Given the description of an element on the screen output the (x, y) to click on. 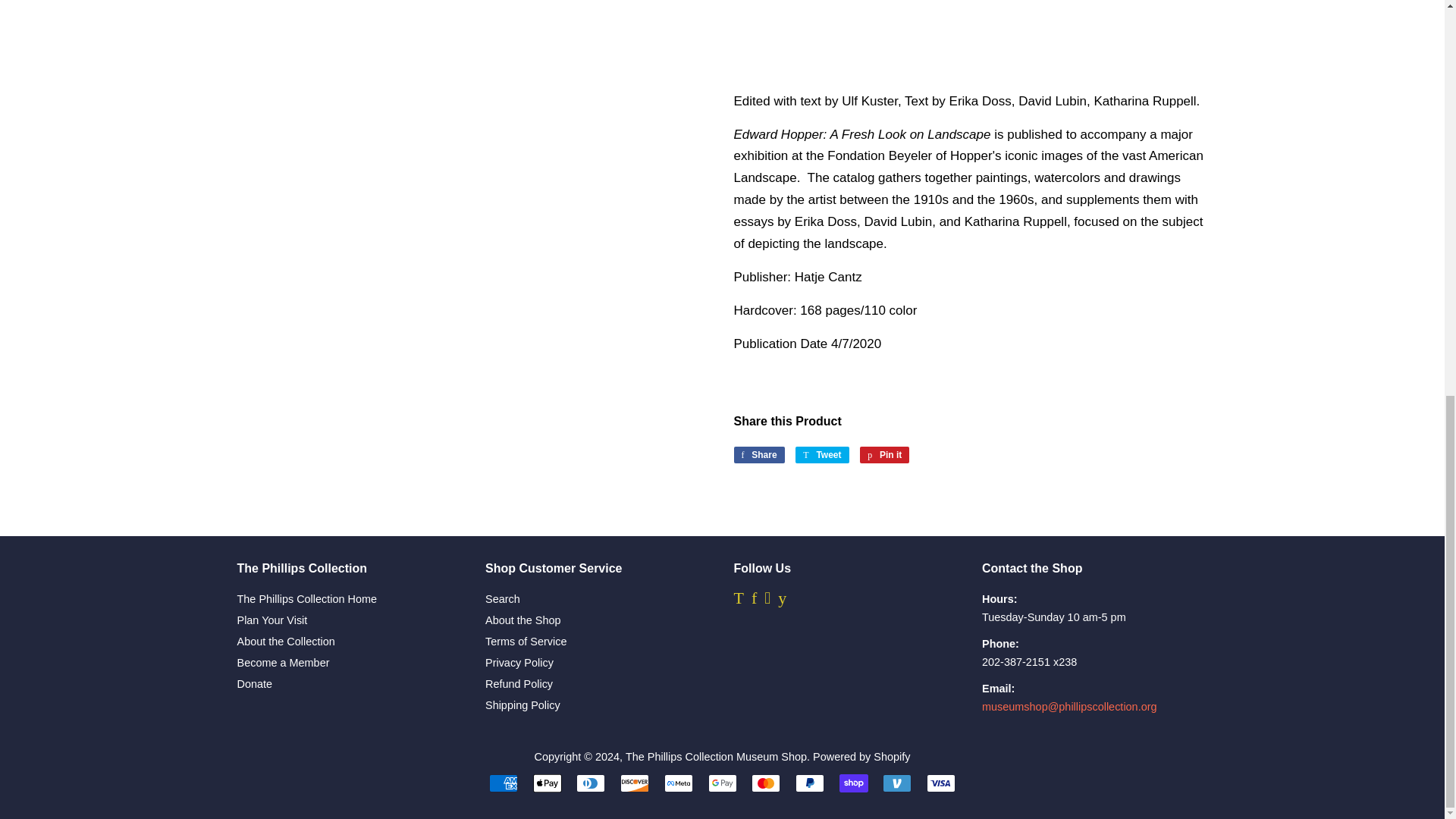
Google Pay (721, 782)
Discover (634, 782)
Visa (884, 454)
Mastercard (940, 782)
Meta Pay (765, 782)
Tweet on Twitter (678, 782)
Shop Pay (821, 454)
Plan Your Visit (821, 454)
